Given the description of an element on the screen output the (x, y) to click on. 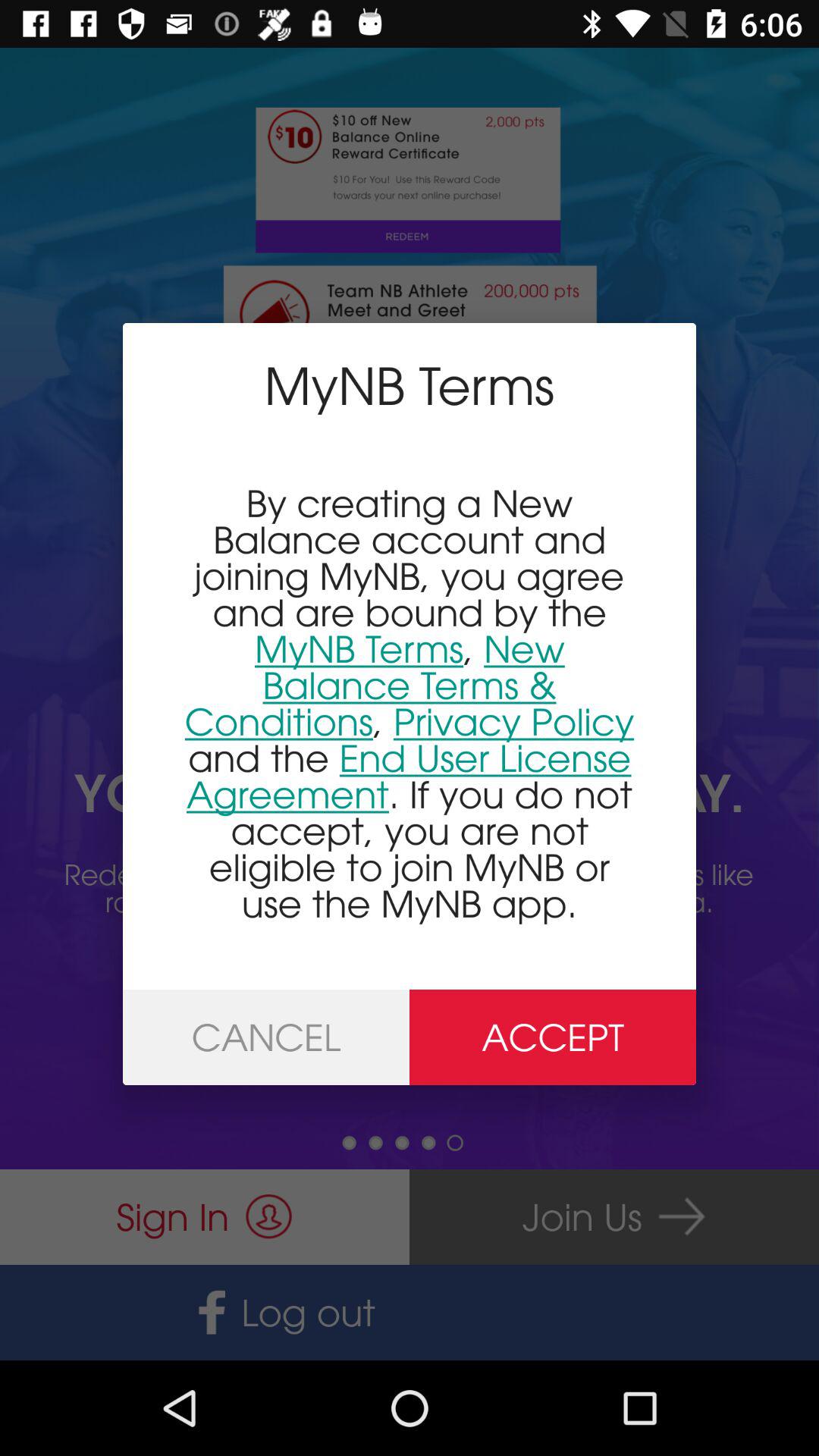
jump until the by creating a icon (409, 702)
